Given the description of an element on the screen output the (x, y) to click on. 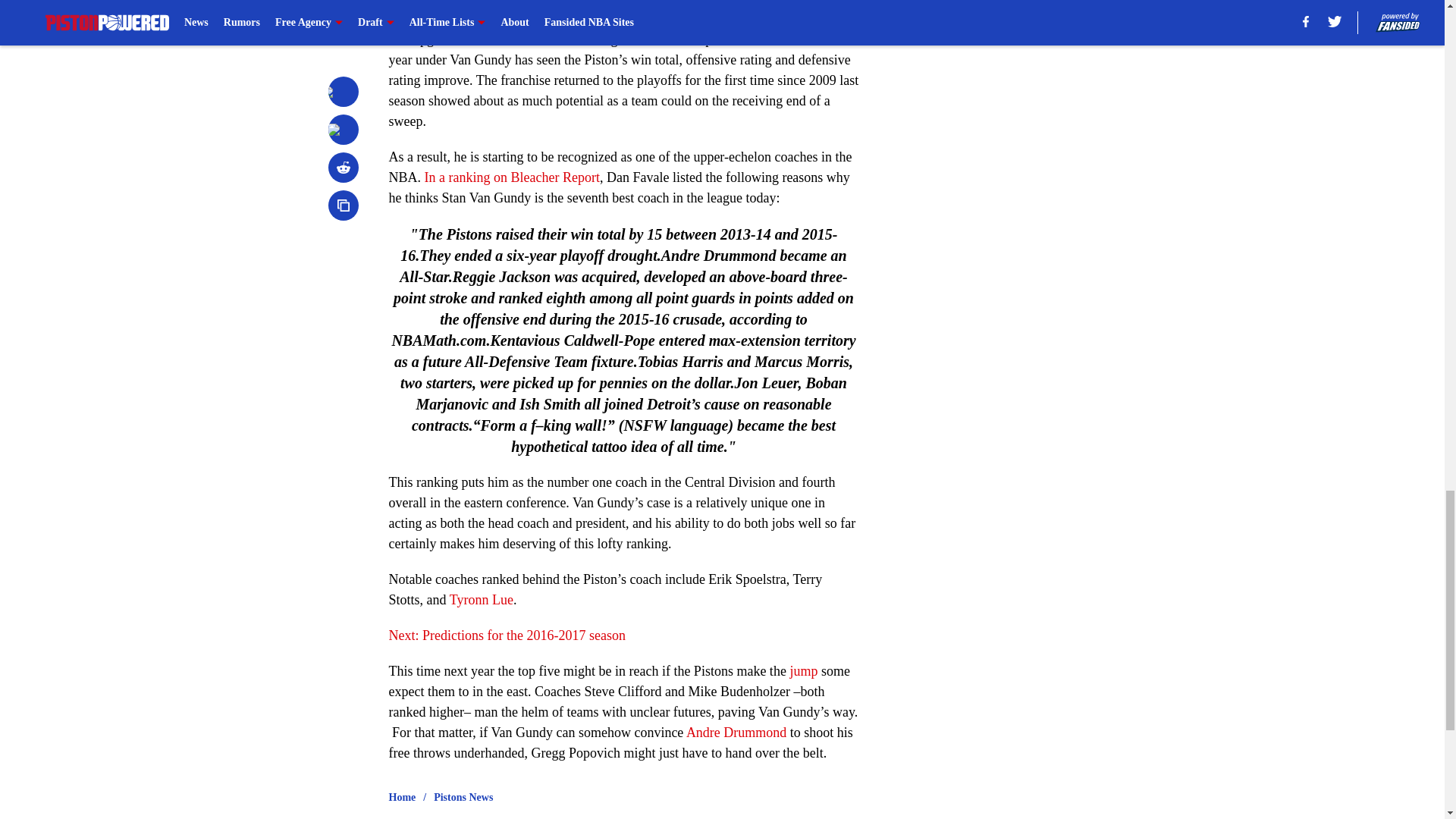
In a ranking on Bleacher Report (512, 177)
jump (802, 670)
Tyronn Lue (481, 599)
Next: Predictions for the 2016-2017 season (506, 635)
